Given the description of an element on the screen output the (x, y) to click on. 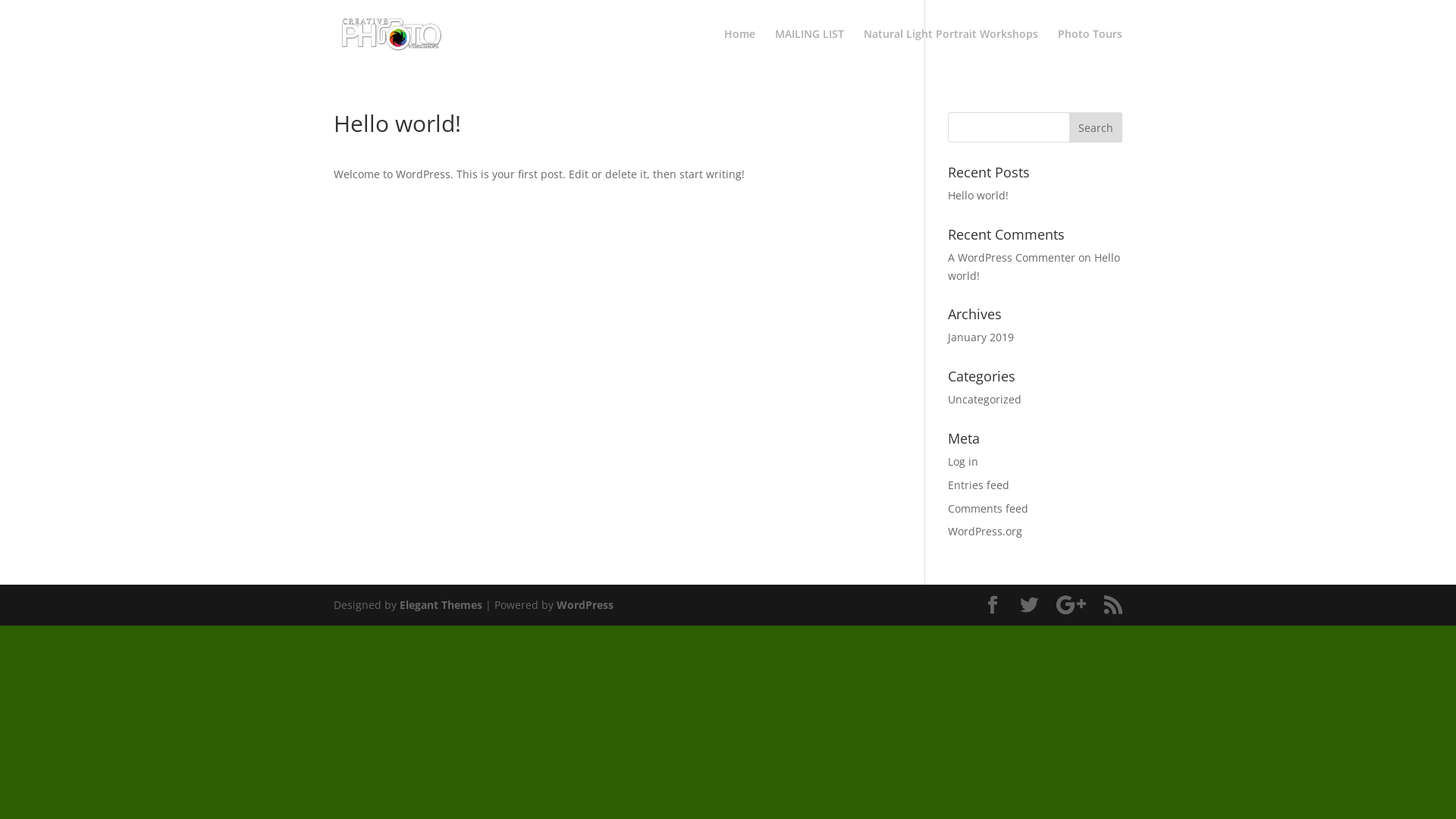
Search Element type: text (1095, 127)
Entries feed Element type: text (978, 484)
WordPress.org Element type: text (984, 531)
January 2019 Element type: text (980, 336)
Natural Light Portrait Workshops Element type: text (950, 48)
Elegant Themes Element type: text (440, 604)
Home Element type: text (739, 48)
MAILING LIST Element type: text (809, 48)
WordPress Element type: text (584, 604)
Log in Element type: text (962, 461)
Hello world! Element type: text (1033, 266)
Comments feed Element type: text (987, 508)
Photo Tours Element type: text (1089, 48)
Hello world! Element type: text (977, 195)
Uncategorized Element type: text (984, 399)
A WordPress Commenter Element type: text (1011, 257)
